Given the description of an element on the screen output the (x, y) to click on. 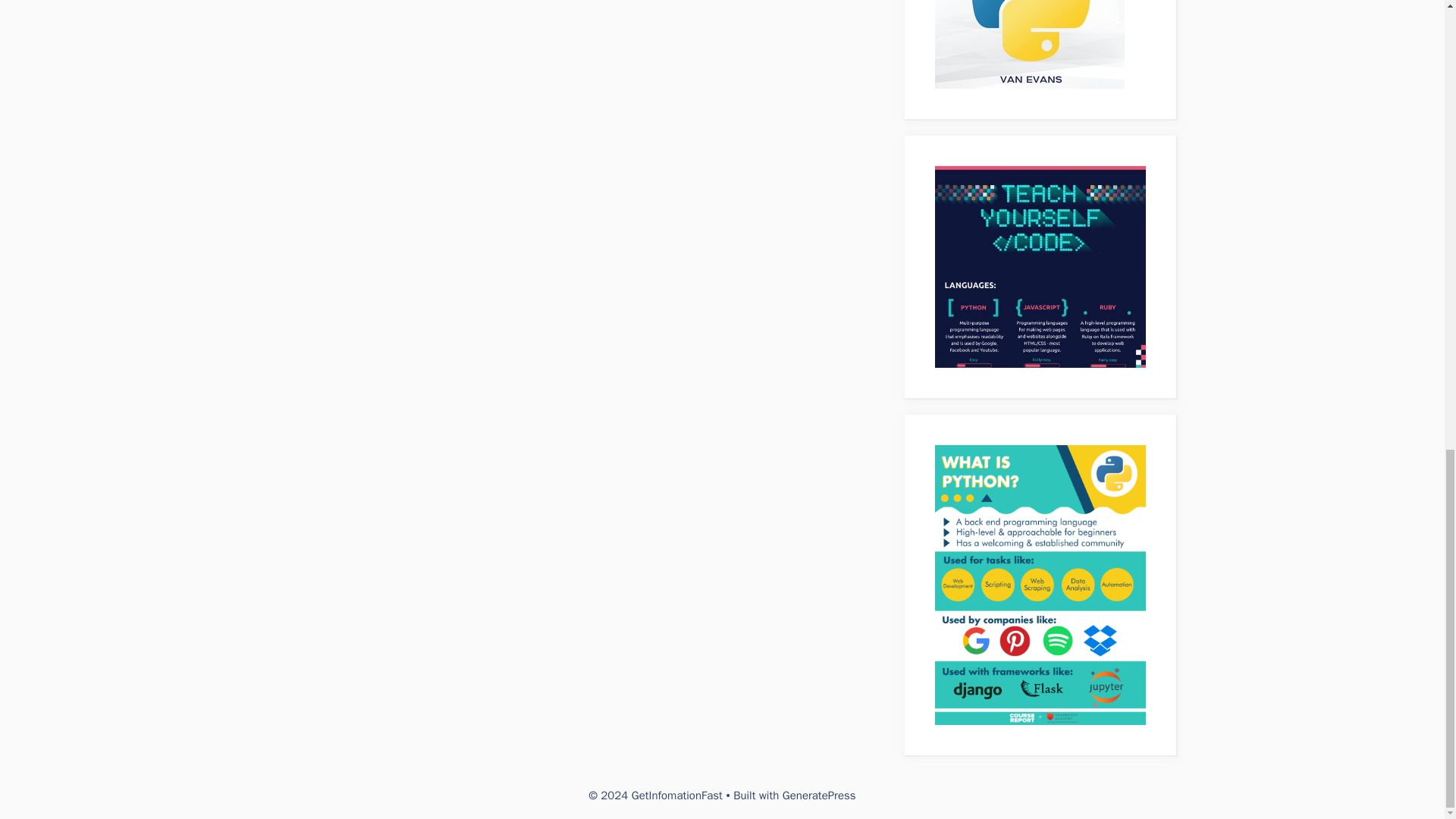
GeneratePress (819, 795)
